Given the description of an element on the screen output the (x, y) to click on. 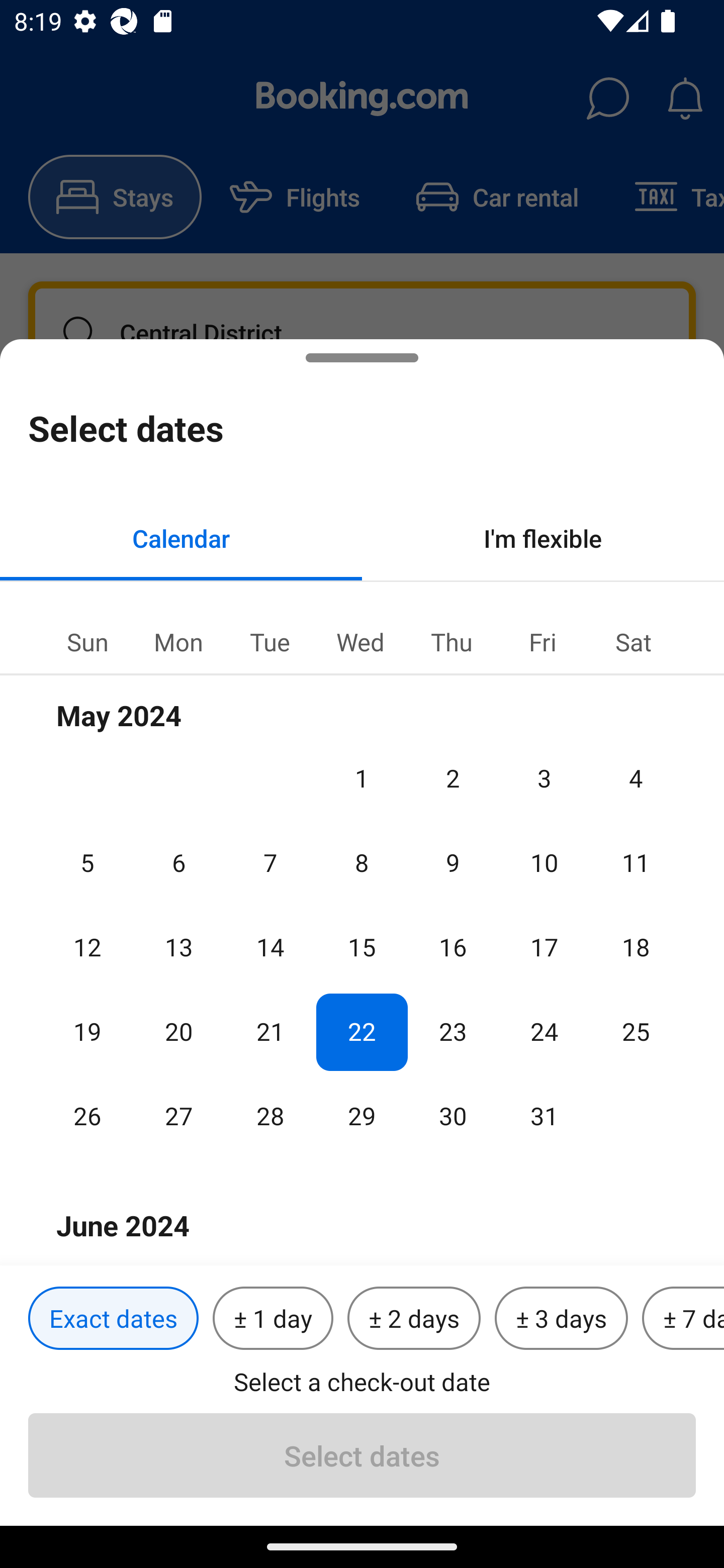
I'm flexible (543, 537)
Exact dates (113, 1318)
± 1 day (272, 1318)
± 2 days (413, 1318)
± 3 days (560, 1318)
± 7 days (683, 1318)
Select dates (361, 1454)
